Given the description of an element on the screen output the (x, y) to click on. 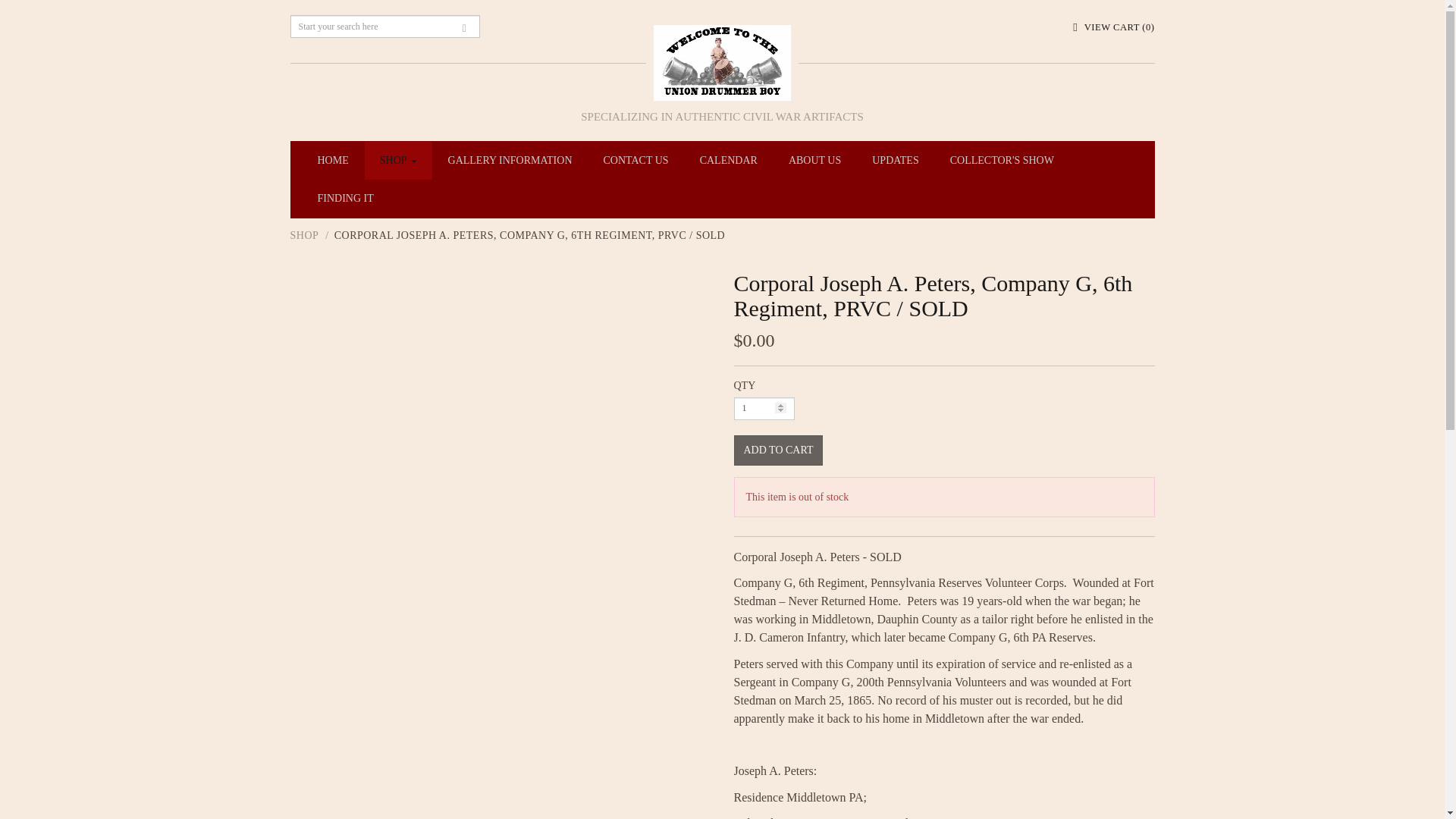
SHOP (398, 160)
HOME (331, 160)
1 (763, 408)
Add to Cart (778, 450)
